Given the description of an element on the screen output the (x, y) to click on. 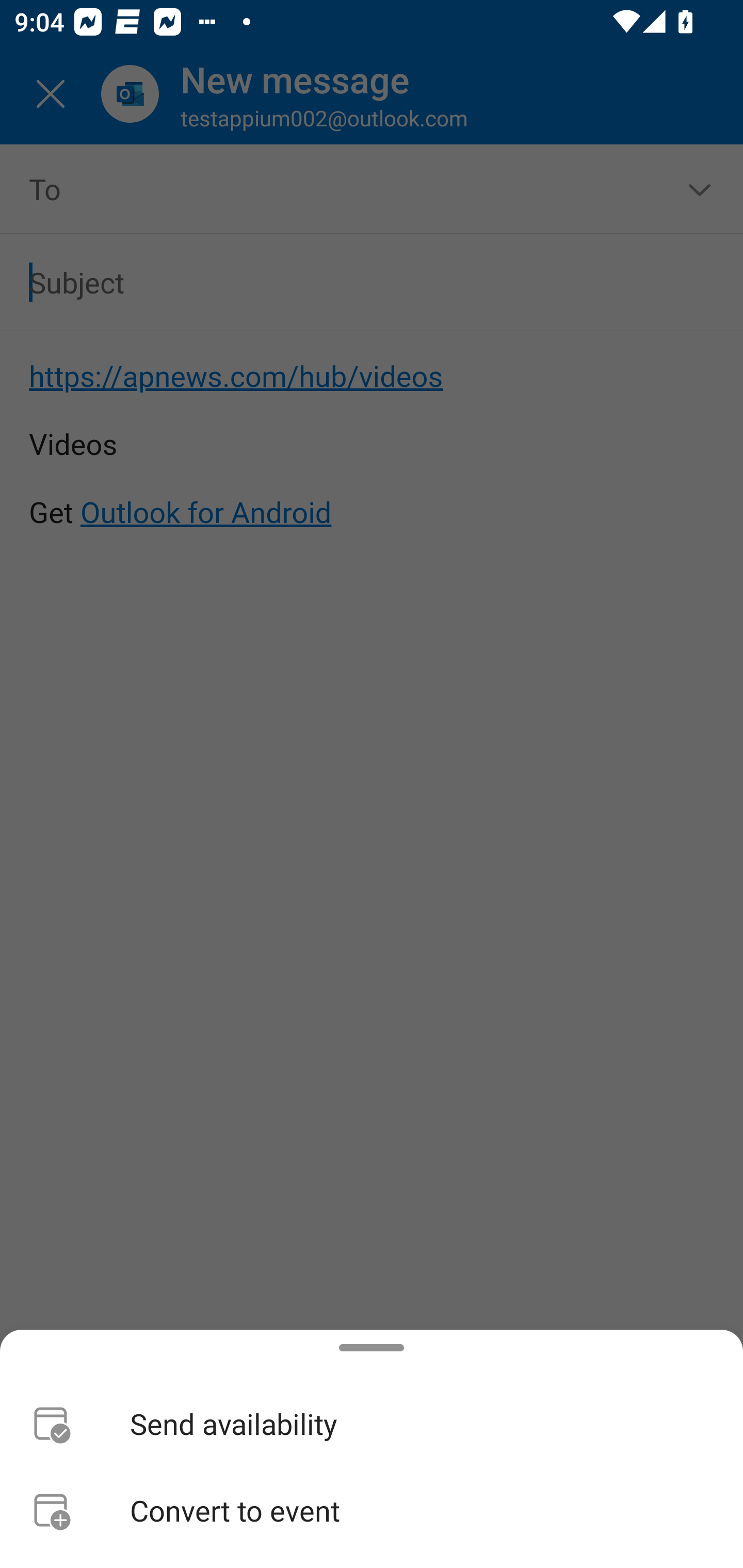
Send availability (371, 1423)
Convert to event (371, 1510)
